Given the description of an element on the screen output the (x, y) to click on. 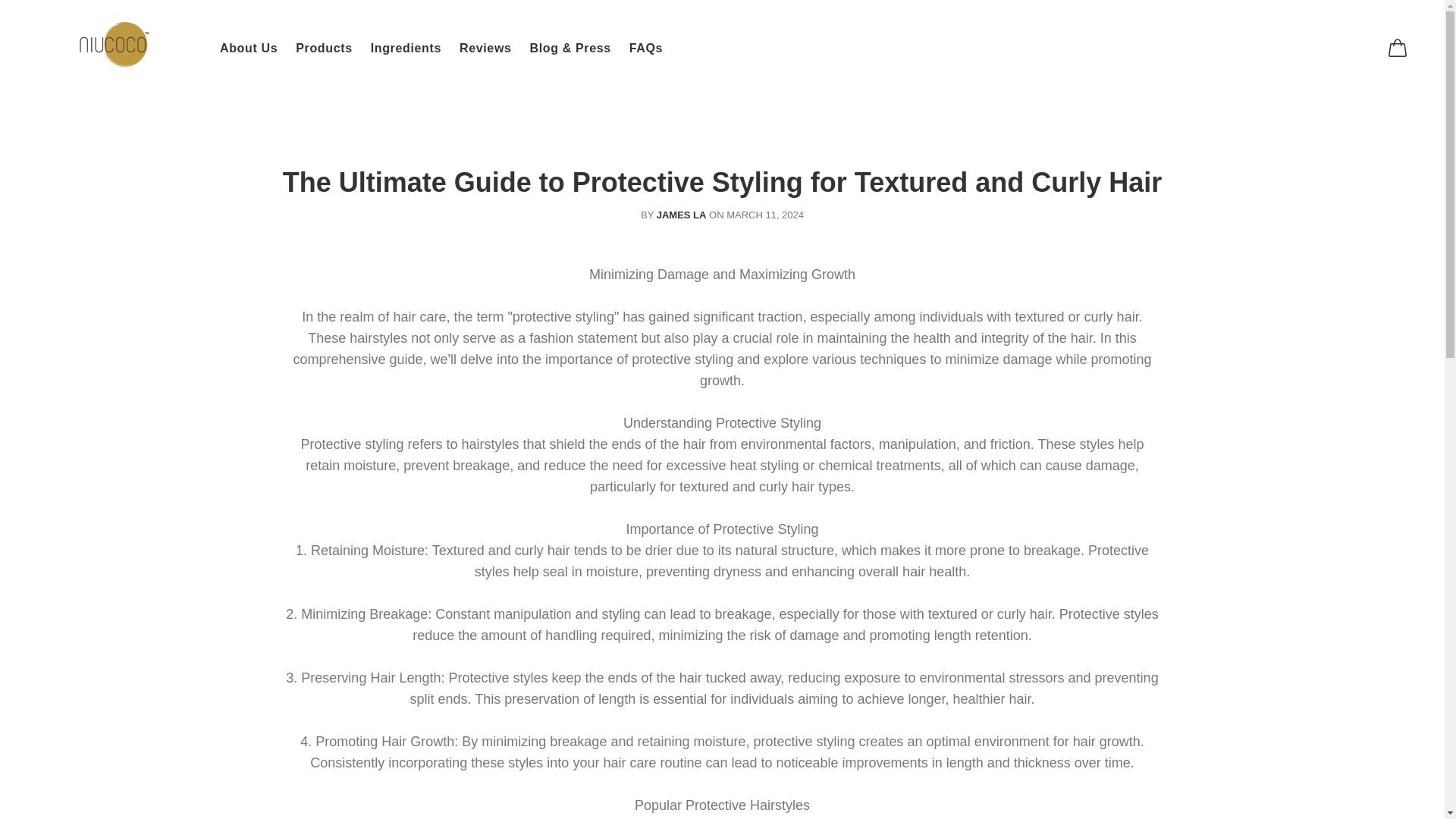
Reviews (485, 48)
About Us (252, 48)
Ingredients (405, 48)
Products (323, 48)
